Given the description of an element on the screen output the (x, y) to click on. 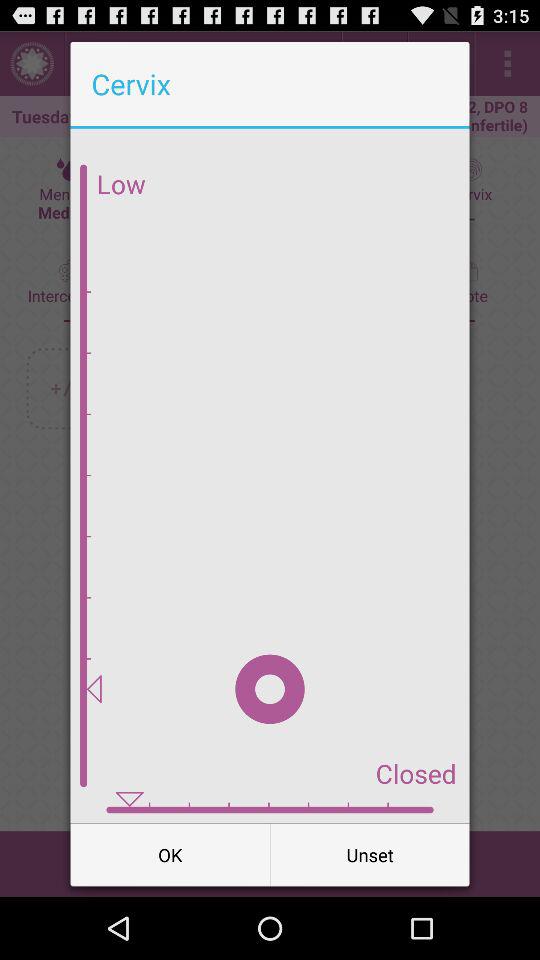
choose icon at the bottom right corner (369, 854)
